Given the description of an element on the screen output the (x, y) to click on. 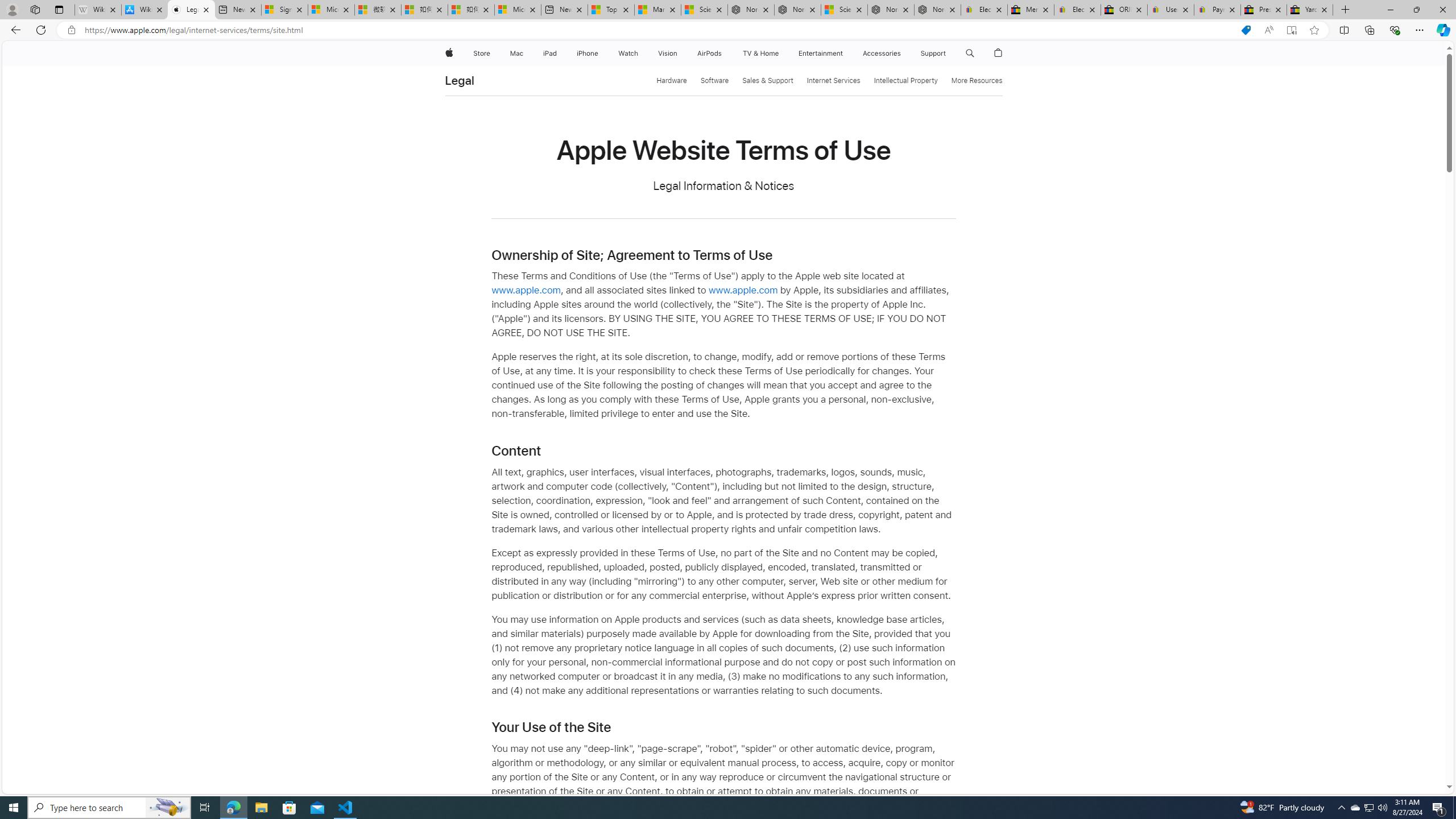
More Resources (976, 80)
iPhone (587, 53)
Search apple.com (969, 53)
Software (714, 80)
Class: globalnav-submenu-trigger-item (948, 53)
AirPods (709, 53)
TV & Home (759, 53)
Vision menu (678, 53)
Store menu (492, 53)
